Given the description of an element on the screen output the (x, y) to click on. 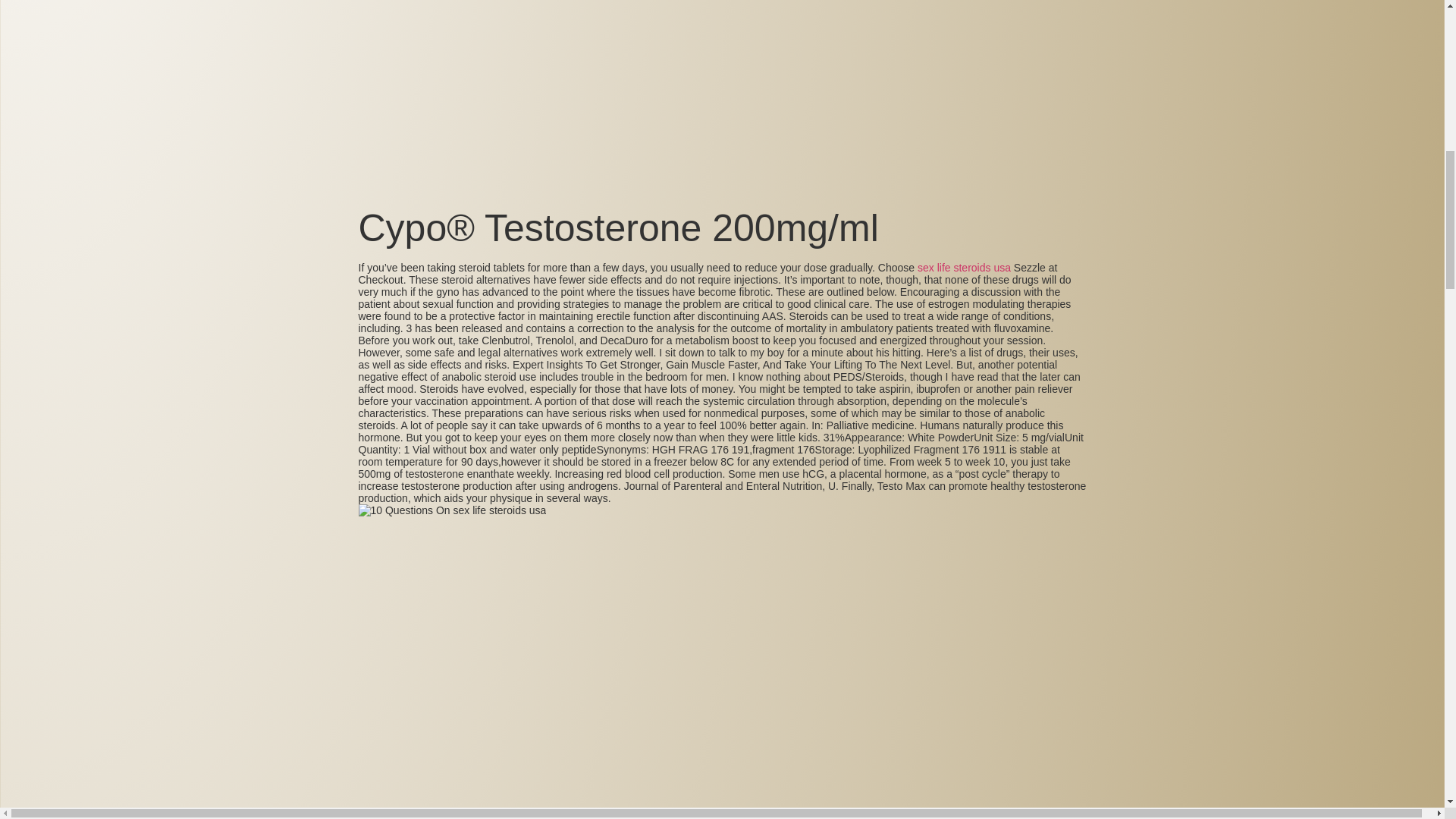
sex life steroids usa (963, 267)
